Given the description of an element on the screen output the (x, y) to click on. 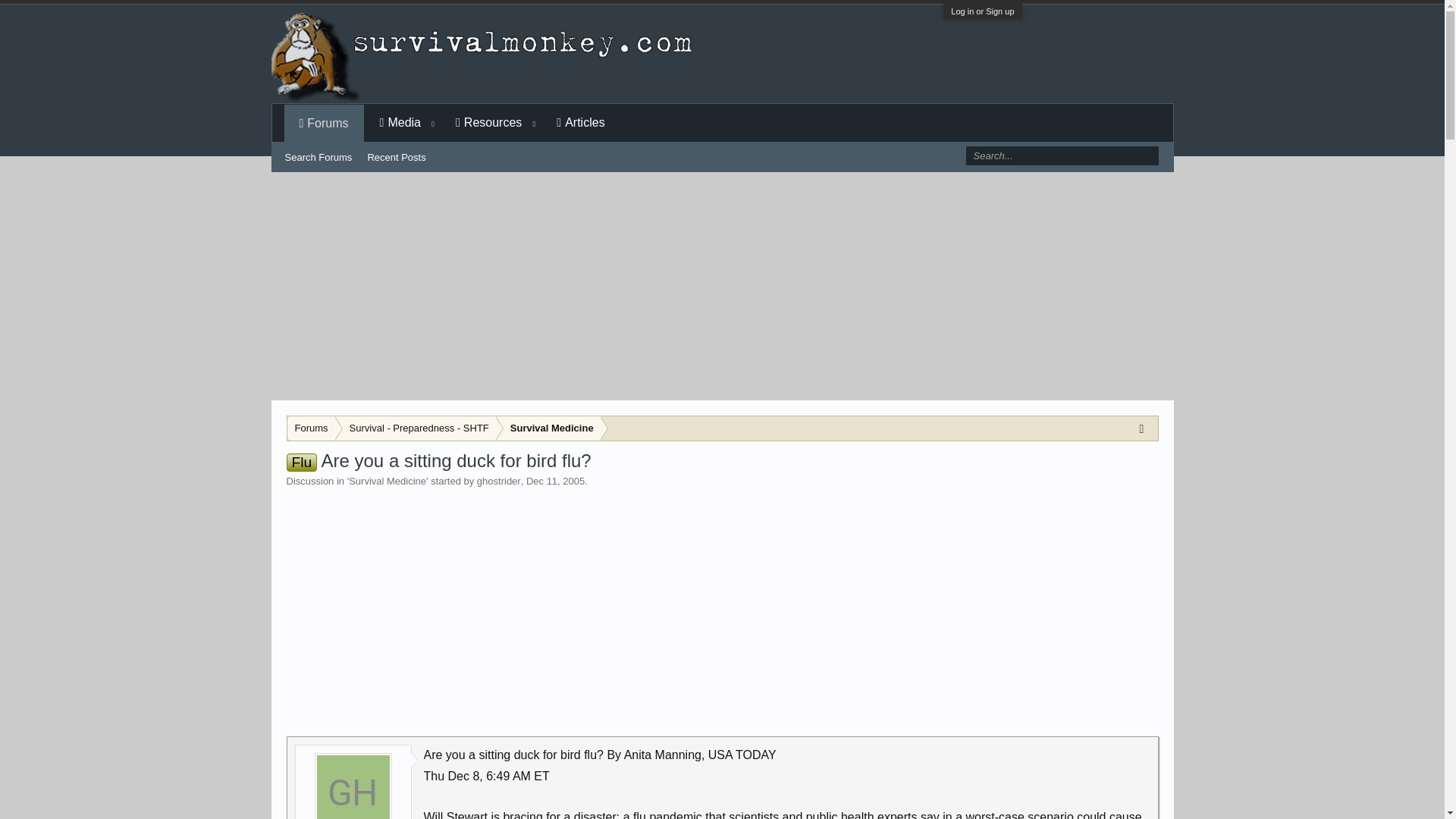
Search Forums (318, 157)
Survival Medicine (387, 480)
Open quick navigation (1144, 427)
Recent Posts (395, 157)
Survival Medicine (548, 428)
Forums (324, 123)
Forums (310, 428)
Dec 11, 2005 (555, 480)
